Given the description of an element on the screen output the (x, y) to click on. 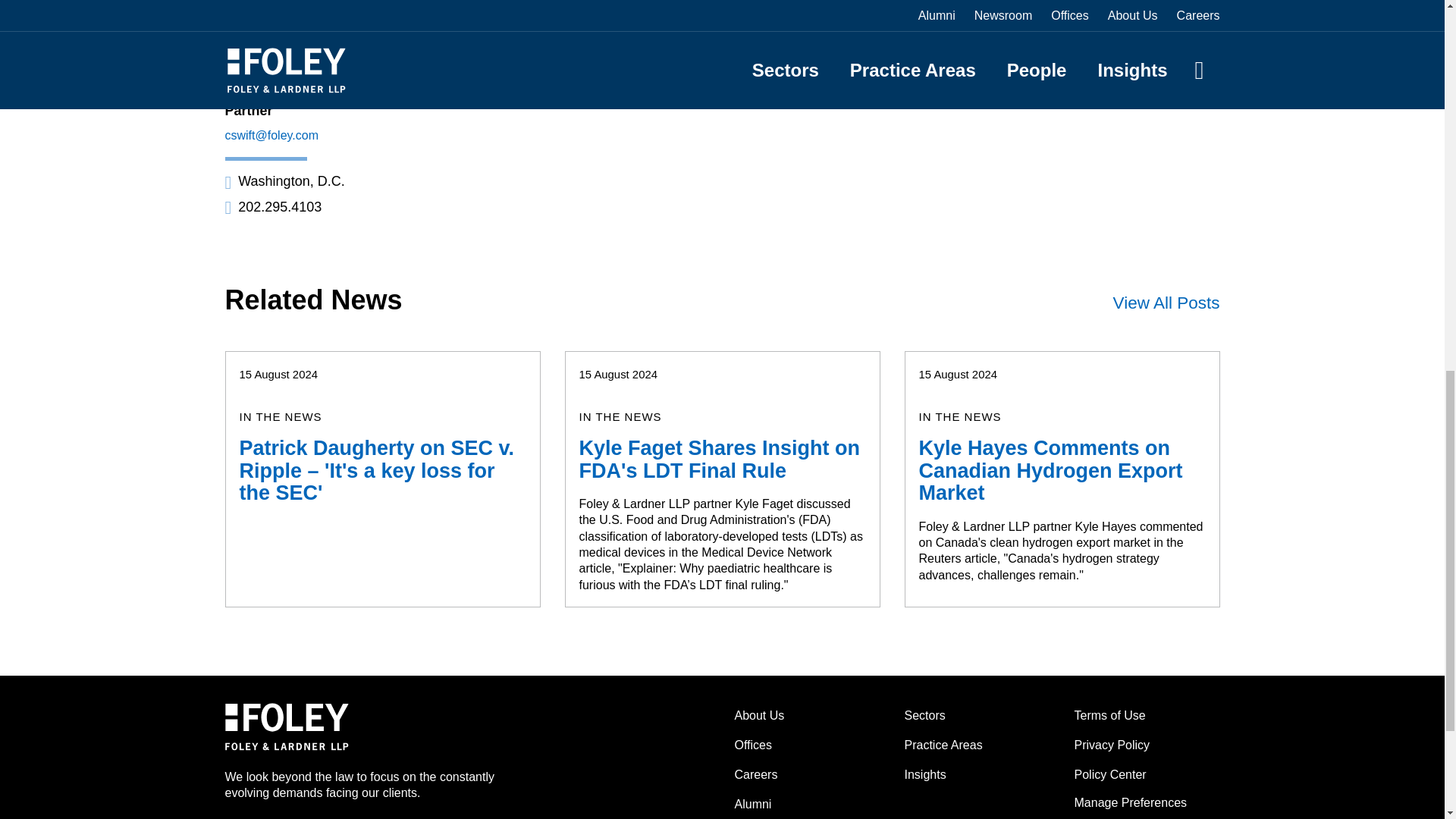
202.295.4103 (272, 206)
Christopher Swift (309, 83)
View All Posts (1166, 302)
